Given the description of an element on the screen output the (x, y) to click on. 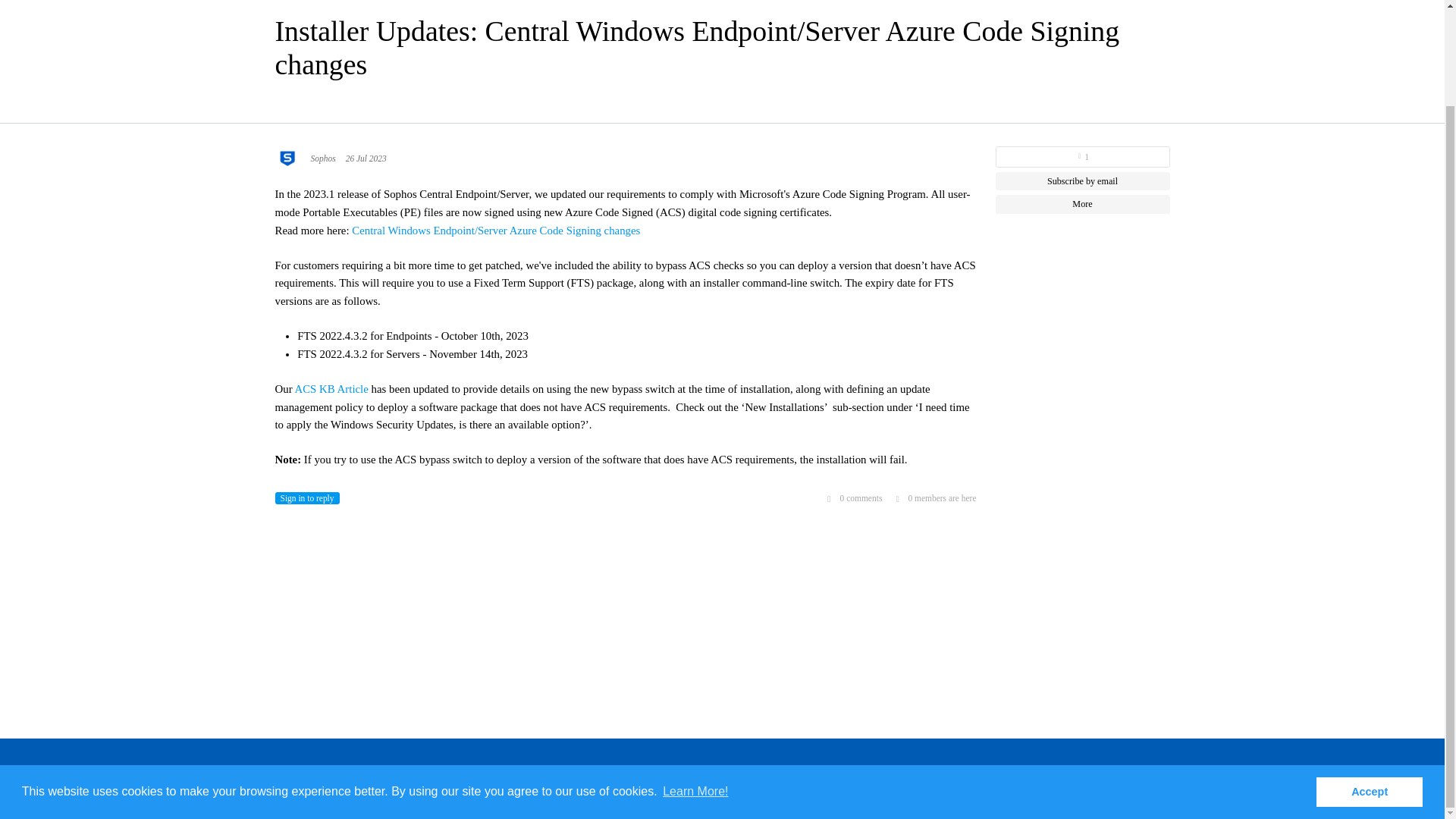
Learn More! (695, 680)
Accept (1369, 680)
